Given the description of an element on the screen output the (x, y) to click on. 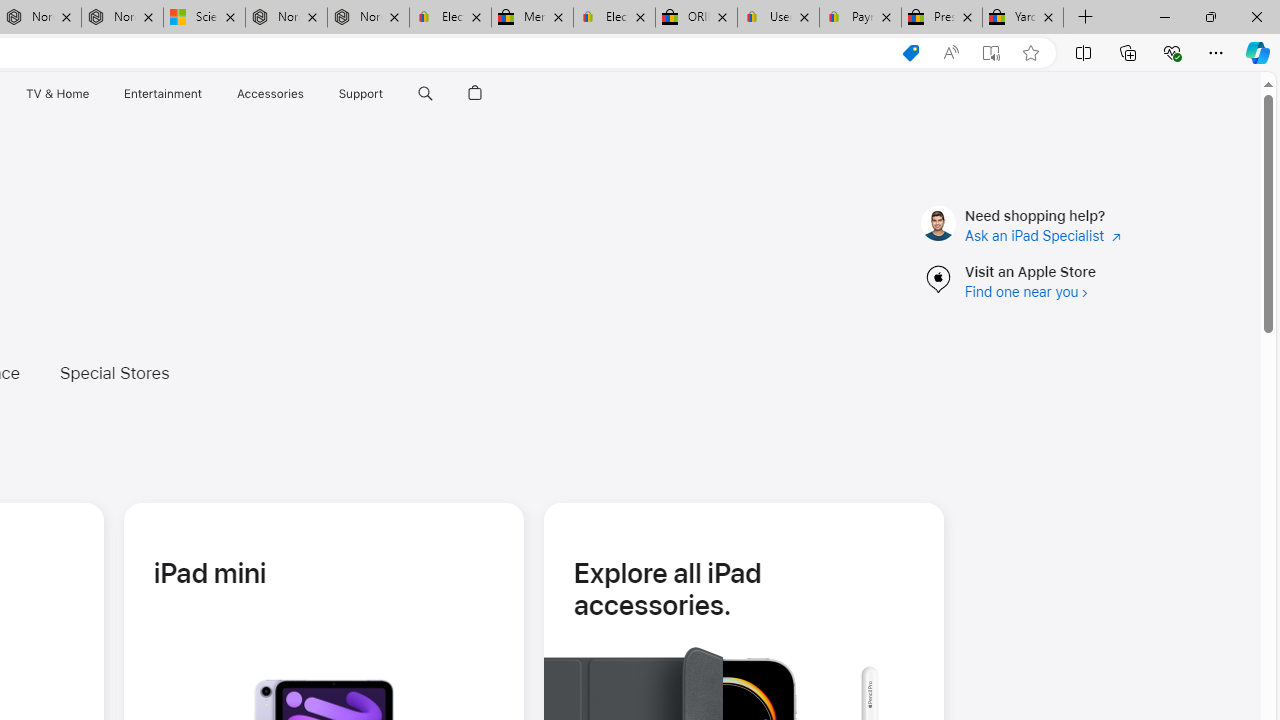
Class: globalnav-item globalnav-search shift-0-1 (425, 93)
Special Stores (128, 372)
Support (361, 93)
Accessories (269, 93)
Yard, Garden & Outdoor Living (1023, 17)
Accessories (269, 93)
Shopping in Microsoft Edge (910, 53)
Nordace - FAQ (368, 17)
Payments Terms of Use | eBay.com (860, 17)
